Given the description of an element on the screen output the (x, y) to click on. 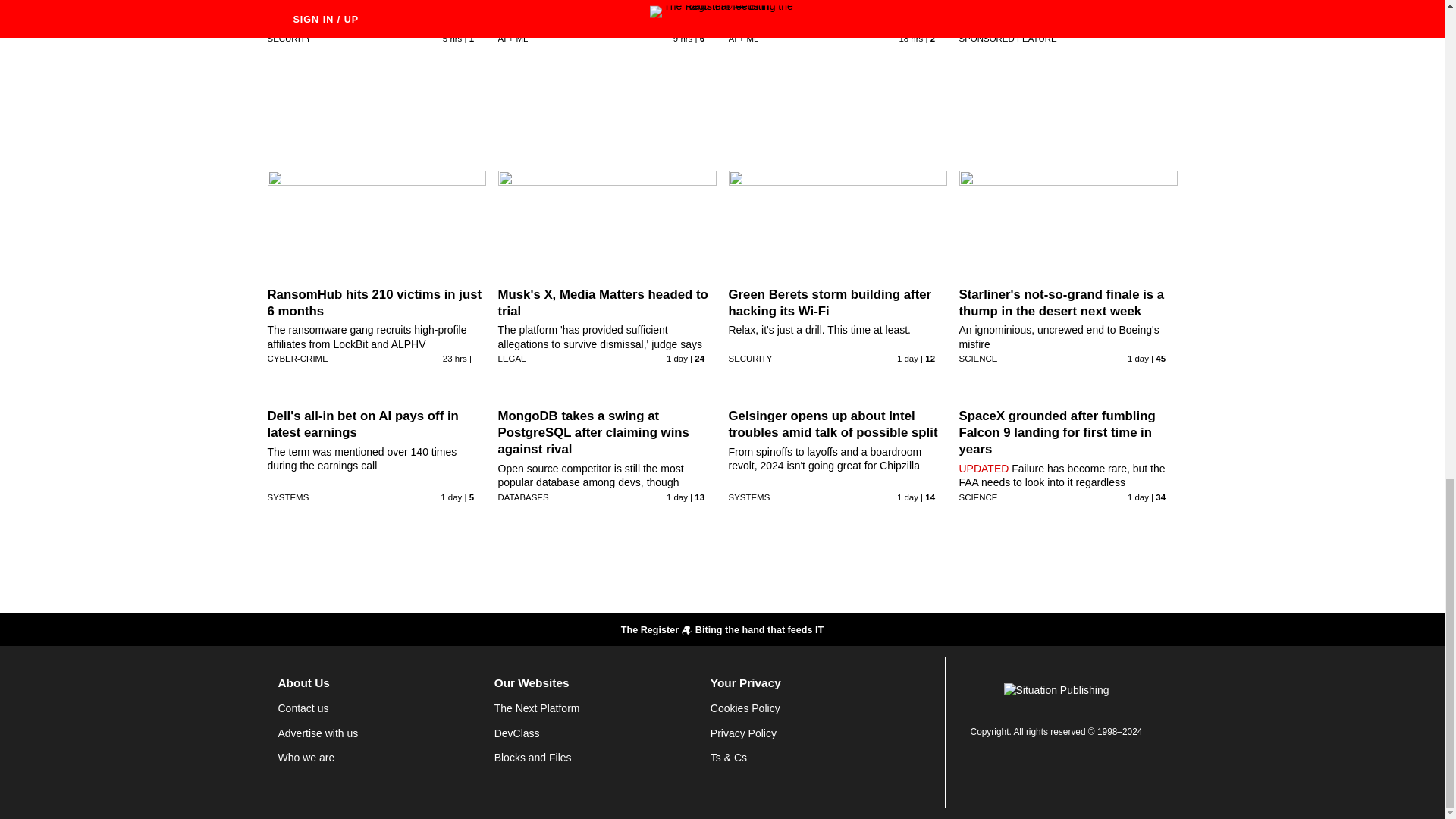
31 Aug 2024 18:22 (452, 38)
30 Aug 2024 22:30 (676, 358)
30 Aug 2024 21:0 (907, 358)
31 Aug 2024 5:0 (910, 38)
30 Aug 2024 23:55 (454, 358)
30 Aug 2024 19:0 (451, 497)
30 Aug 2024 17:30 (676, 497)
30 Aug 2024 20:30 (1137, 358)
31 Aug 2024 13:29 (682, 38)
